Given the description of an element on the screen output the (x, y) to click on. 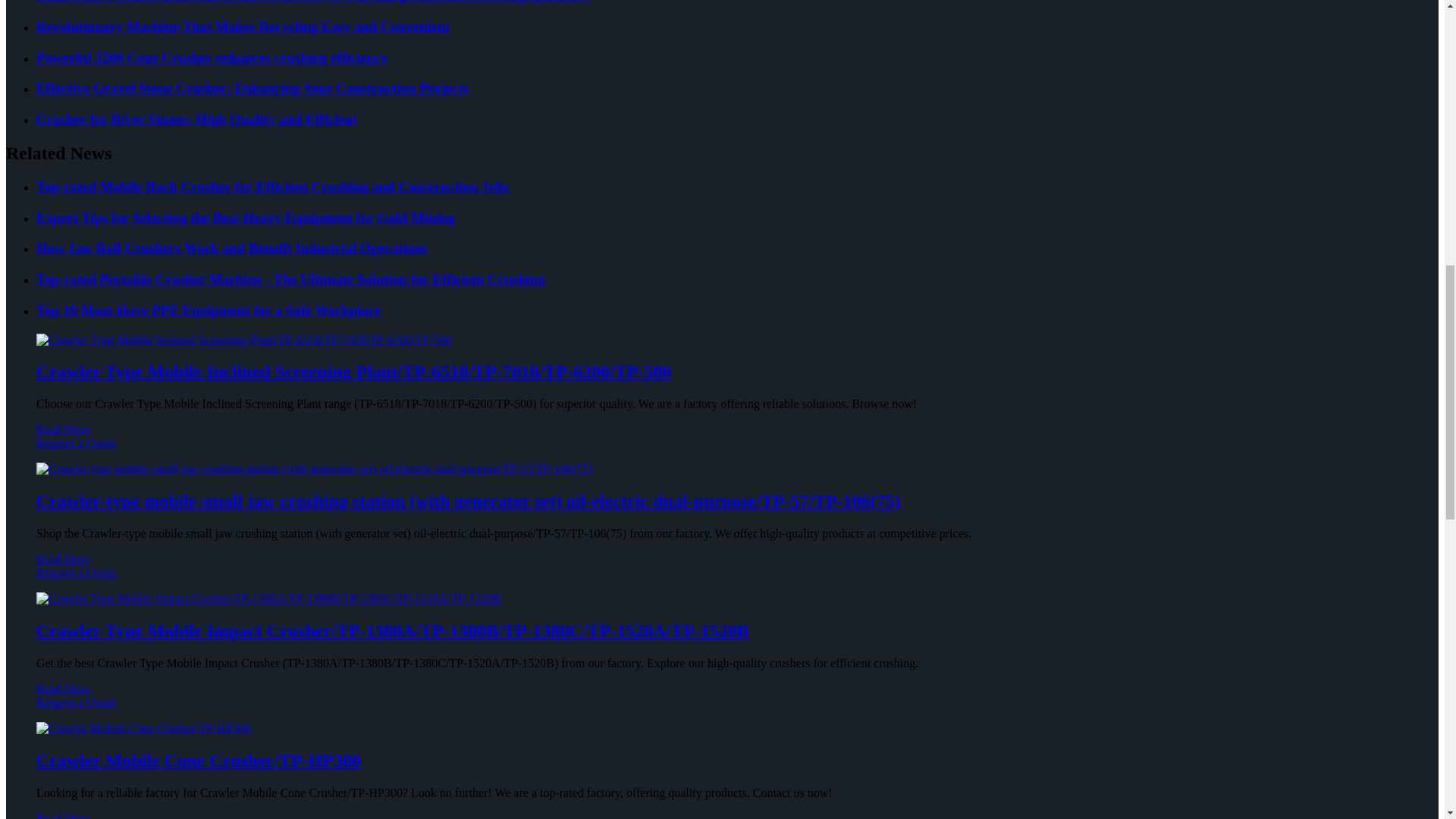
Read More (63, 429)
Request a Quote (721, 450)
